Given the description of an element on the screen output the (x, y) to click on. 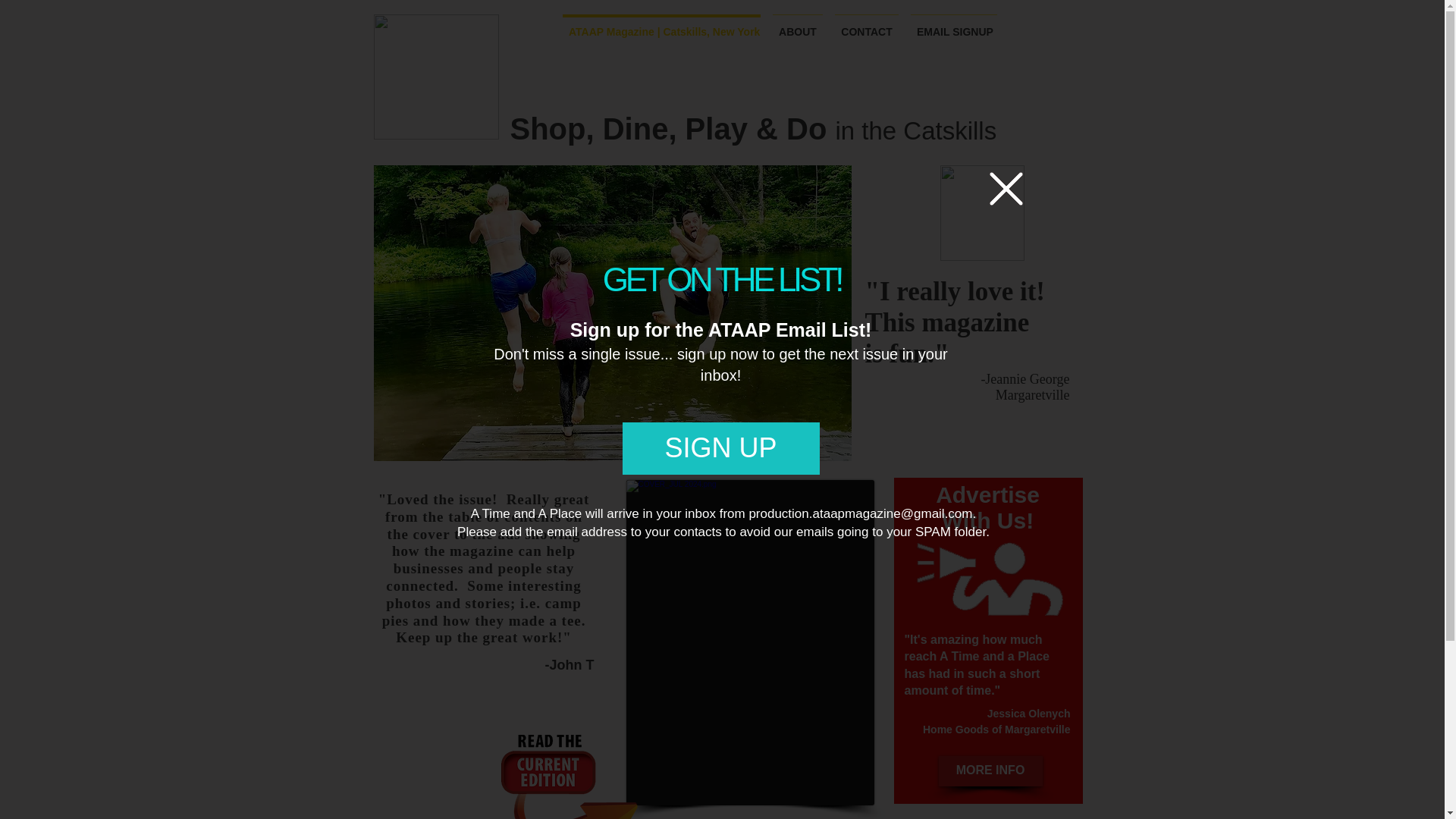
SIGN UP (719, 448)
EMAIL SIGNUP (953, 25)
Back to site (1005, 188)
CONTACT (866, 25)
ABOUT (797, 25)
MORE INFO (990, 770)
